Given the description of an element on the screen output the (x, y) to click on. 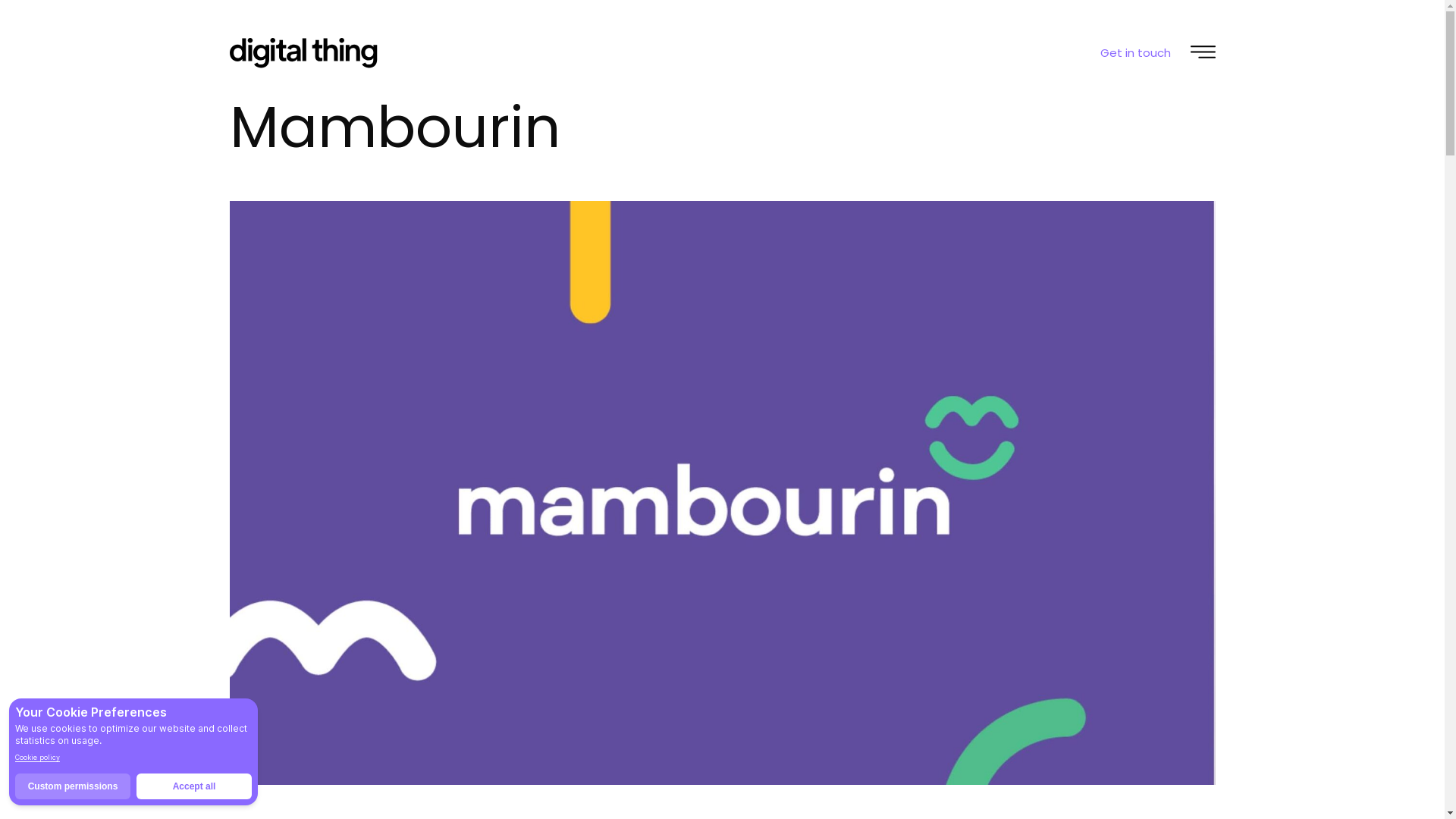
Wordpress Experts - Melbourne Wordpress Developers   Element type: hover (721, 492)
Get in touch Element type: text (1134, 52)
